Given the description of an element on the screen output the (x, y) to click on. 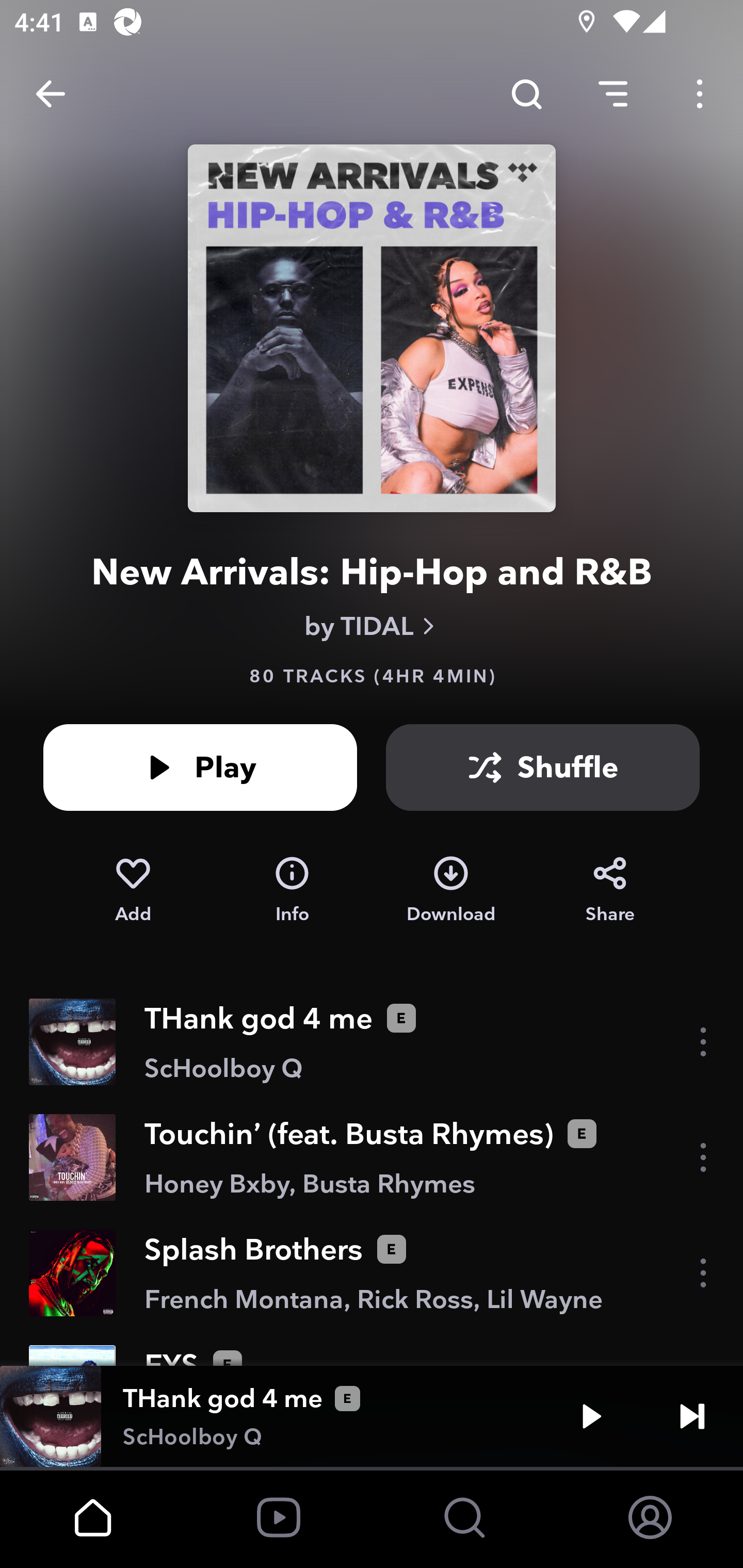
Back (50, 93)
Search (525, 93)
Sorting (612, 93)
Options (699, 93)
by TIDAL (371, 625)
Play (200, 767)
Shuffle (542, 767)
Add (132, 890)
Info (291, 890)
Download (450, 890)
Share (609, 890)
THank god 4 me ScHoolboy Q (371, 1041)
THank god 4 me    ScHoolboy Q Play (371, 1416)
Play (590, 1416)
